Given the description of an element on the screen output the (x, y) to click on. 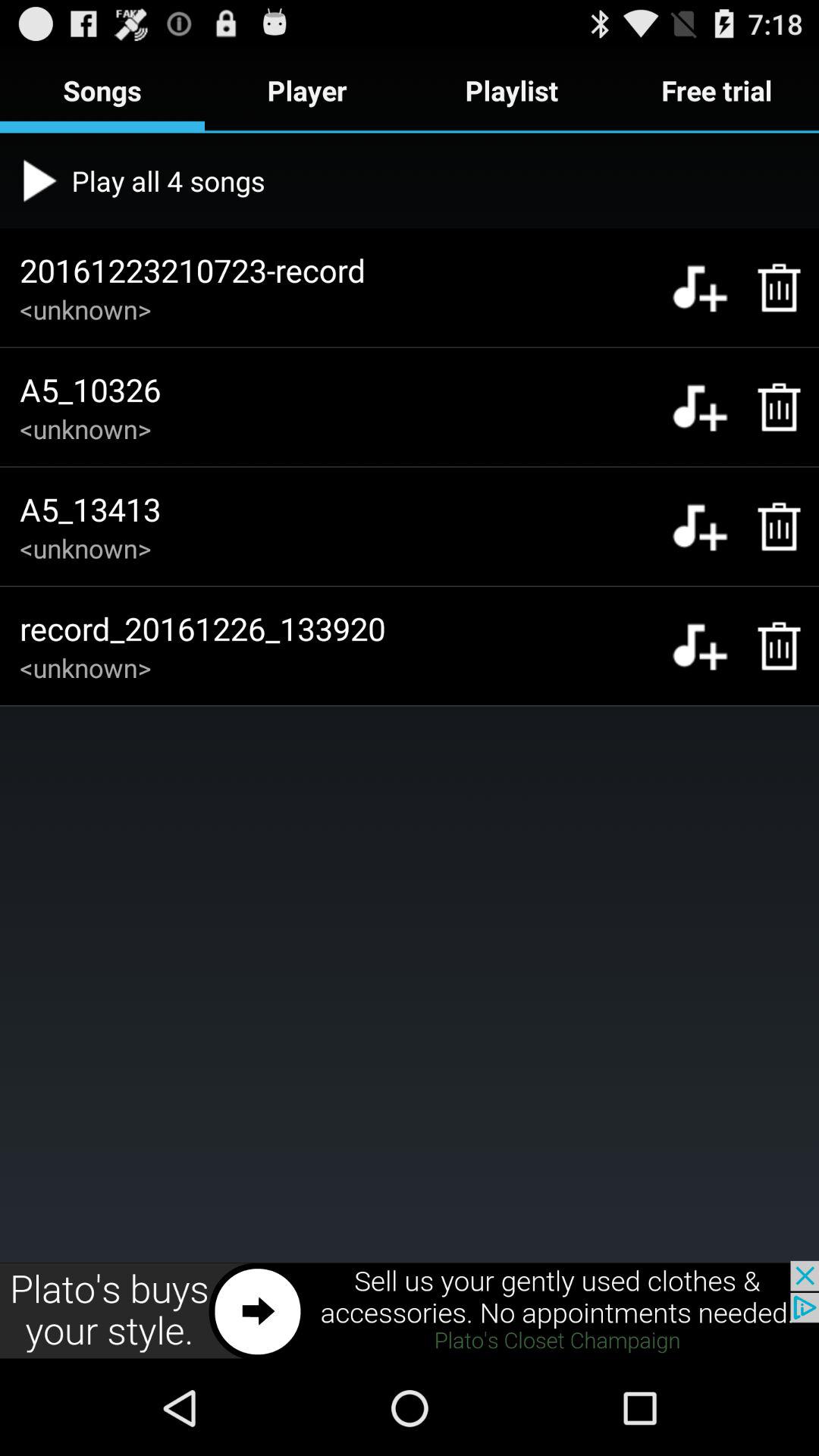
delete (771, 407)
